Given the description of an element on the screen output the (x, y) to click on. 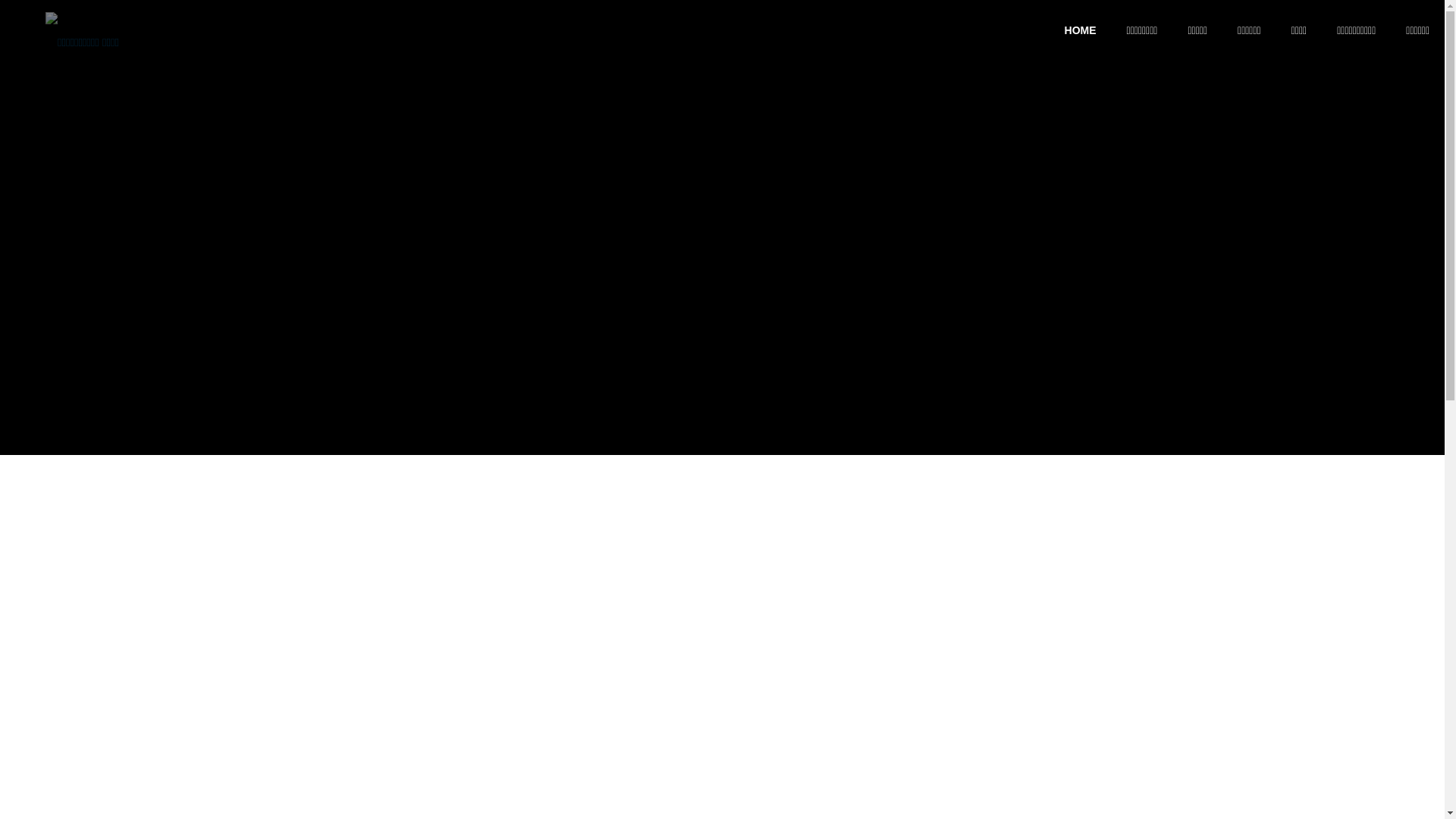
HOME Element type: text (1080, 30)
